Given the description of an element on the screen output the (x, y) to click on. 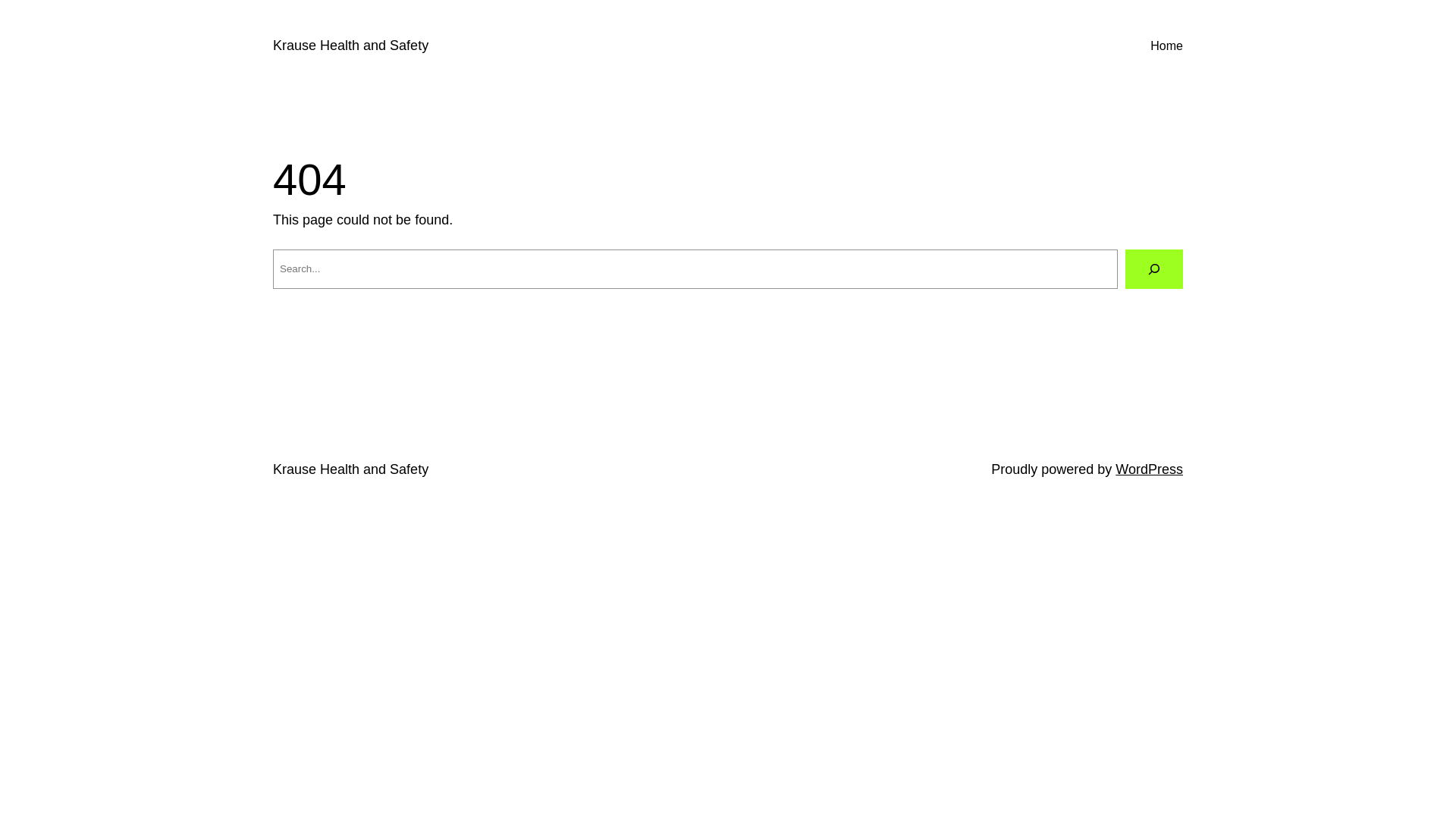
WordPress Element type: text (1149, 468)
Krause Health and Safety Element type: text (350, 45)
Home Element type: text (1166, 46)
Krause Health and Safety Element type: text (350, 468)
